Given the description of an element on the screen output the (x, y) to click on. 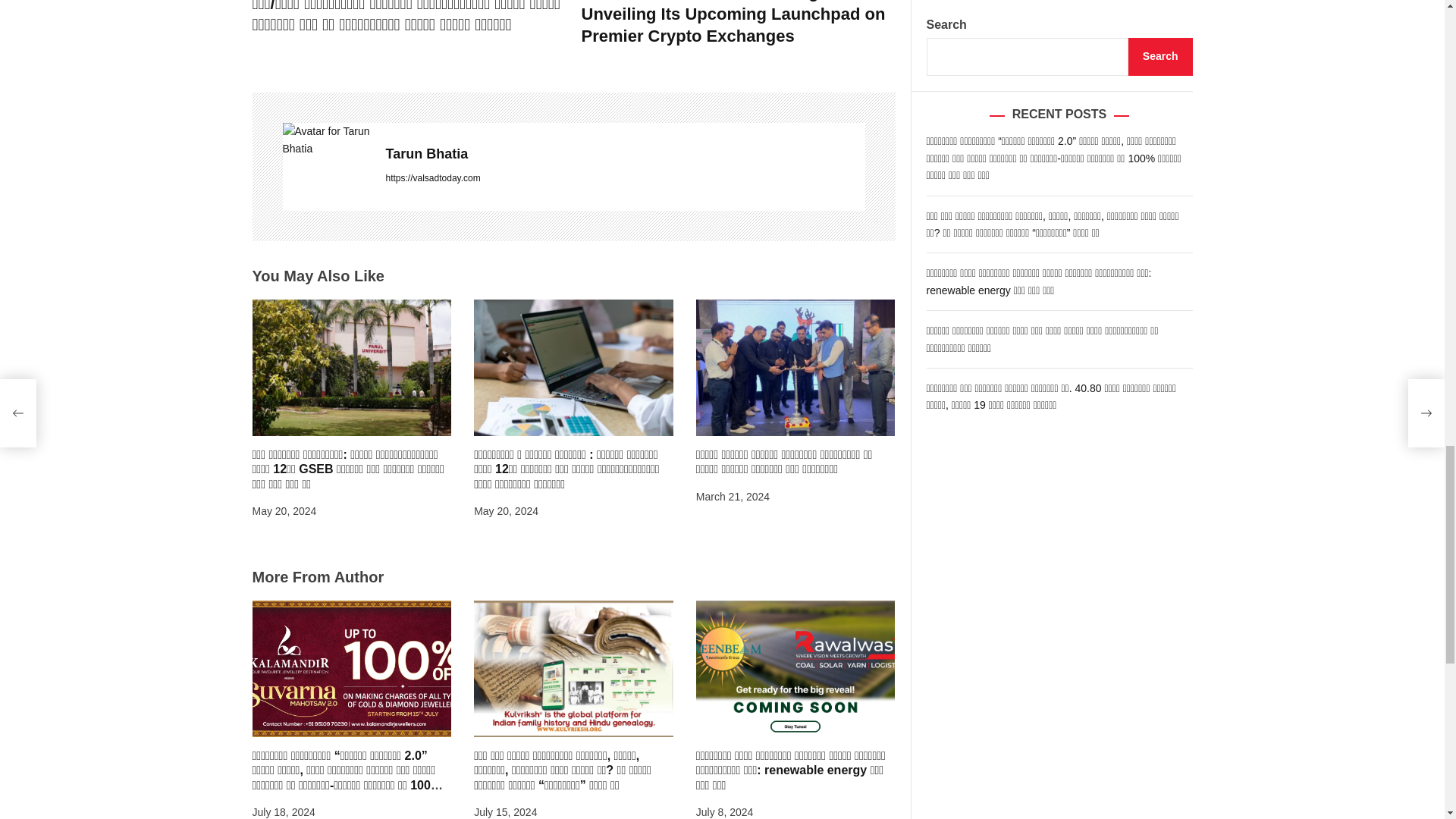
Tarun Bhatia (624, 154)
Tarun Bhatia (624, 154)
Tarun Bhatia (325, 139)
